Given the description of an element on the screen output the (x, y) to click on. 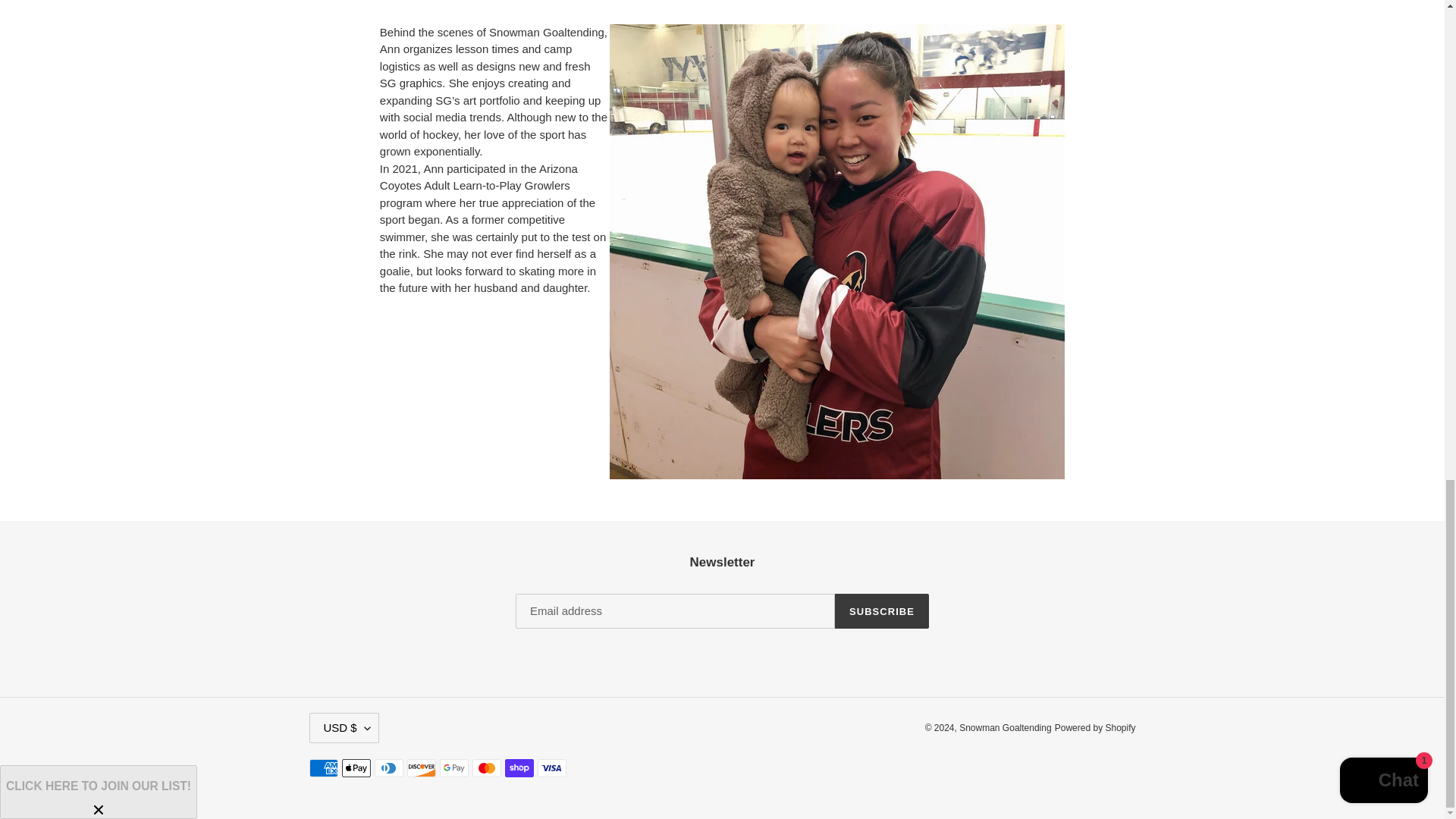
SUBSCRIBE (881, 610)
